Given the description of an element on the screen output the (x, y) to click on. 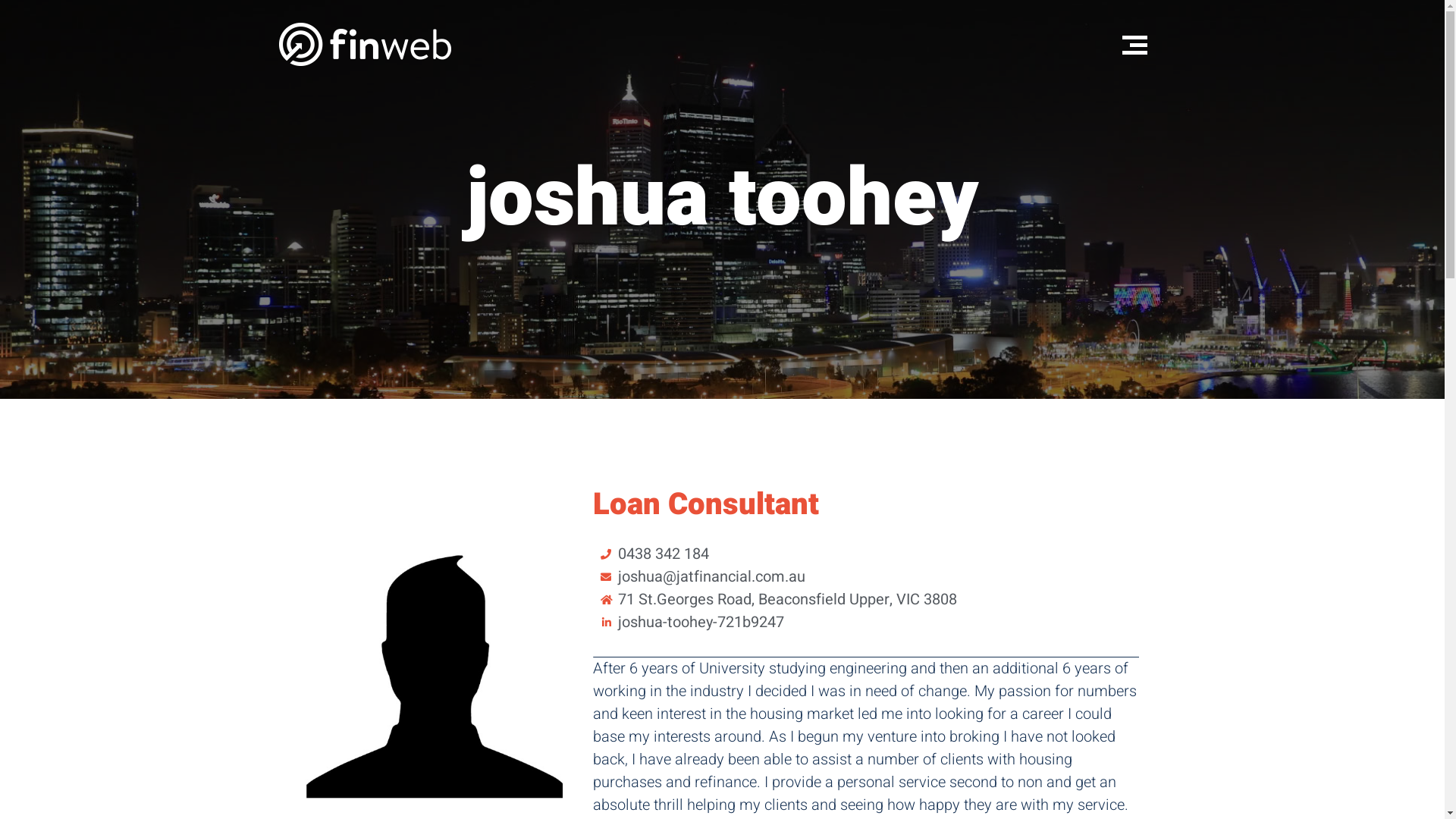
joshua@jatfinancial.com.au Element type: text (865, 576)
joshua-toohey-721b9247 Element type: text (865, 622)
  Element type: text (1141, 39)
